Given the description of an element on the screen output the (x, y) to click on. 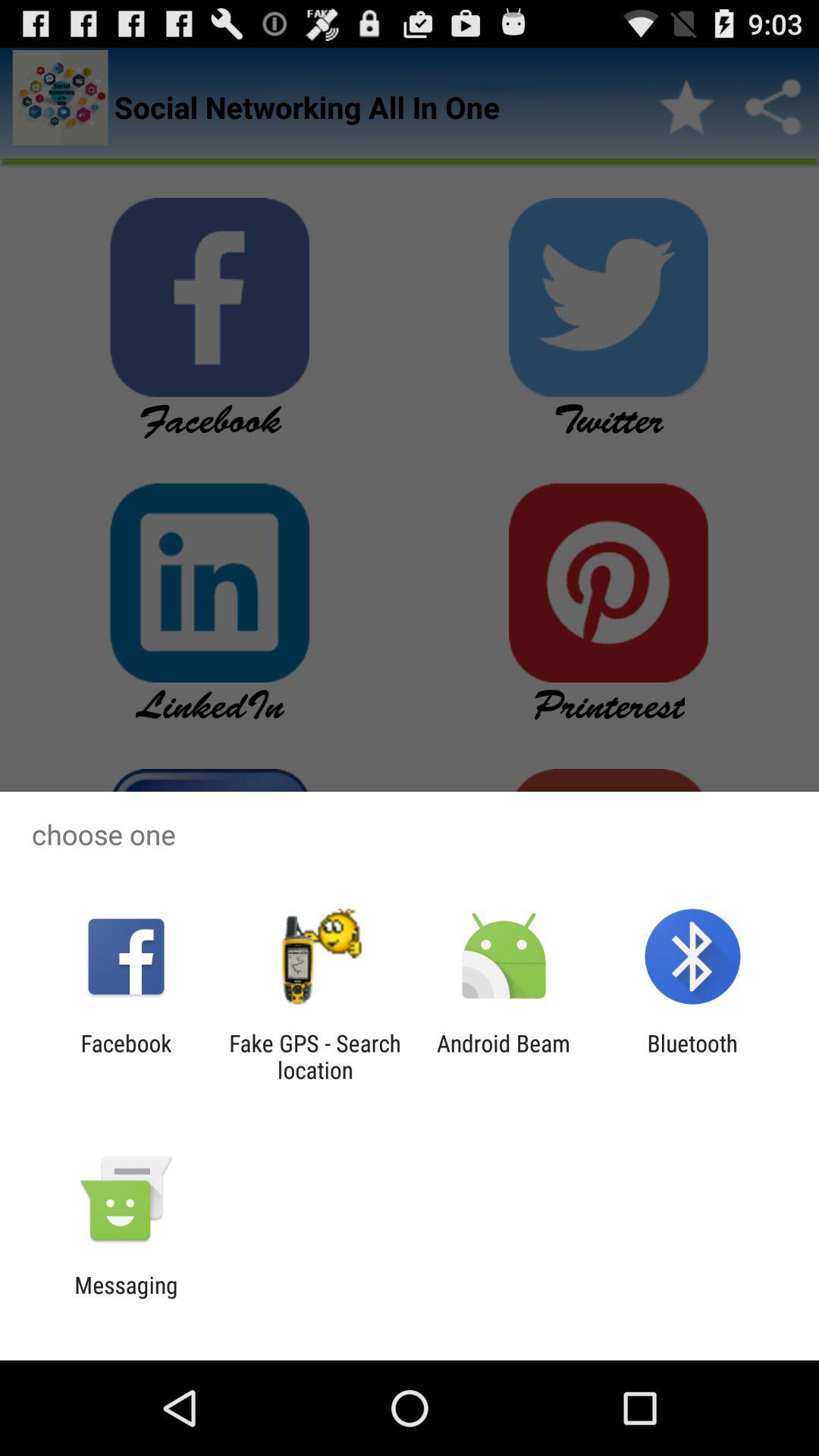
turn on app next to the bluetooth icon (503, 1056)
